Given the description of an element on the screen output the (x, y) to click on. 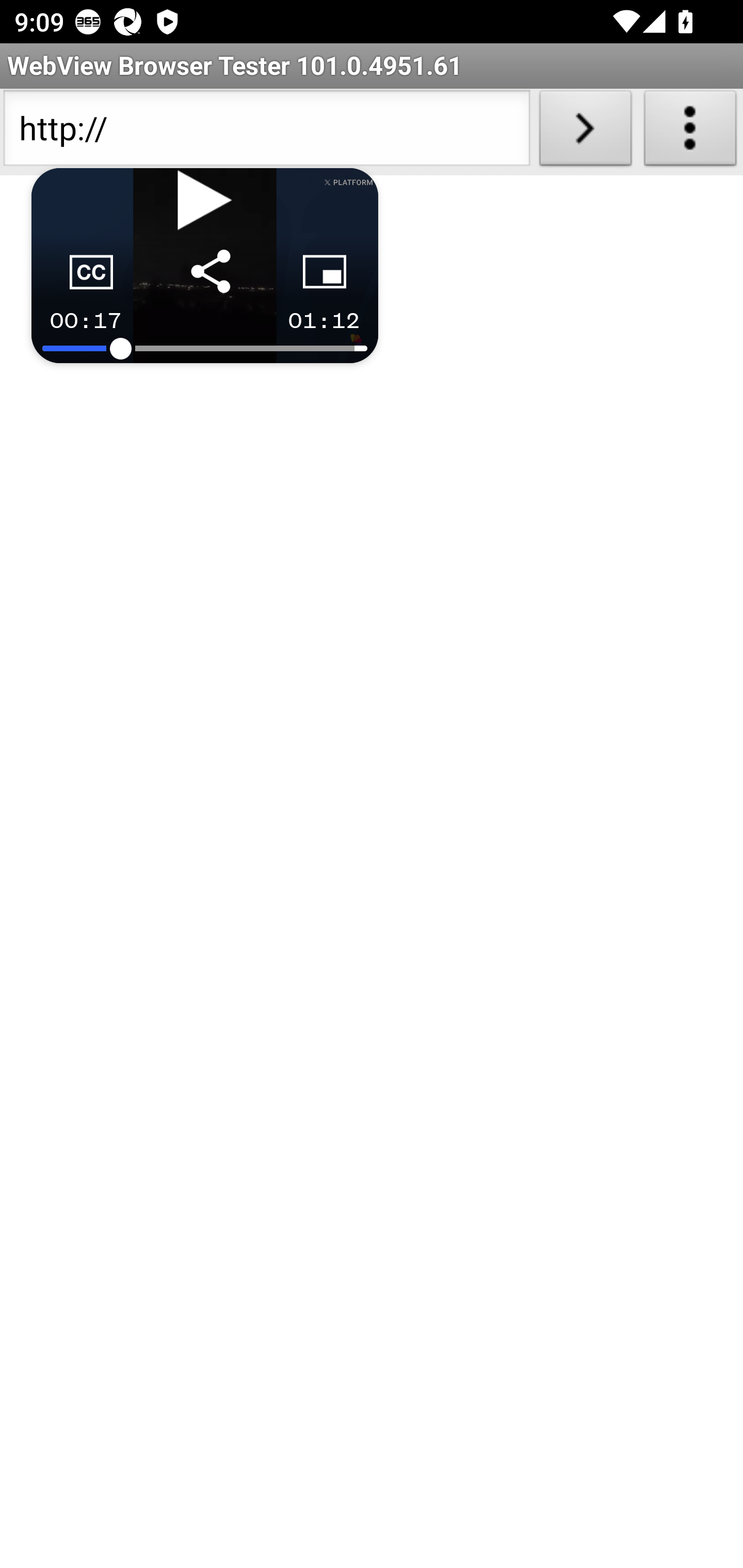
http:// (266, 132)
Load URL (585, 132)
About WebView (690, 132)
